Given the description of an element on the screen output the (x, y) to click on. 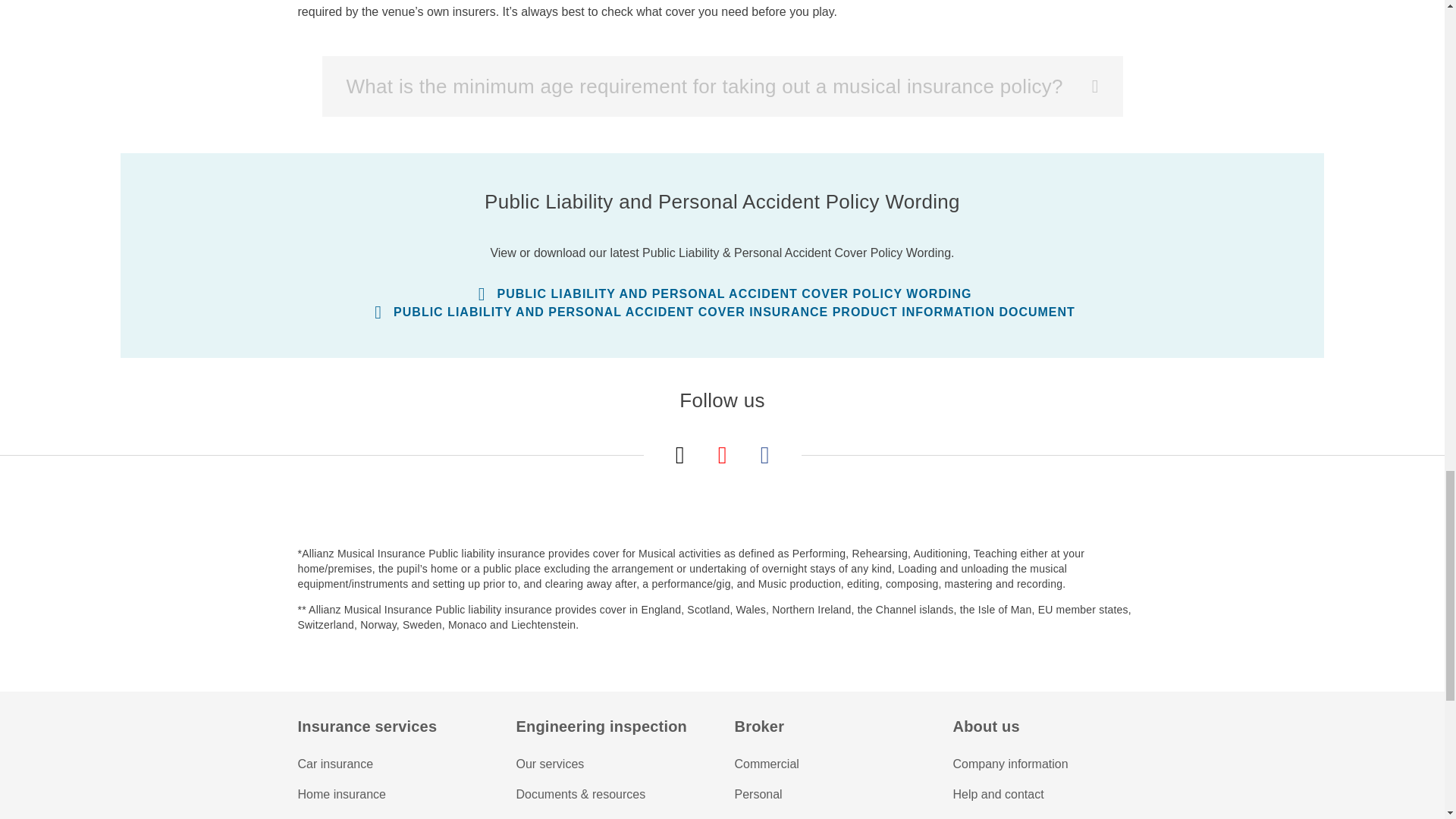
Allianz Music on twitter (678, 454)
Allianz Music on Youtube (721, 454)
Allianz Music on facebook (764, 454)
